Given the description of an element on the screen output the (x, y) to click on. 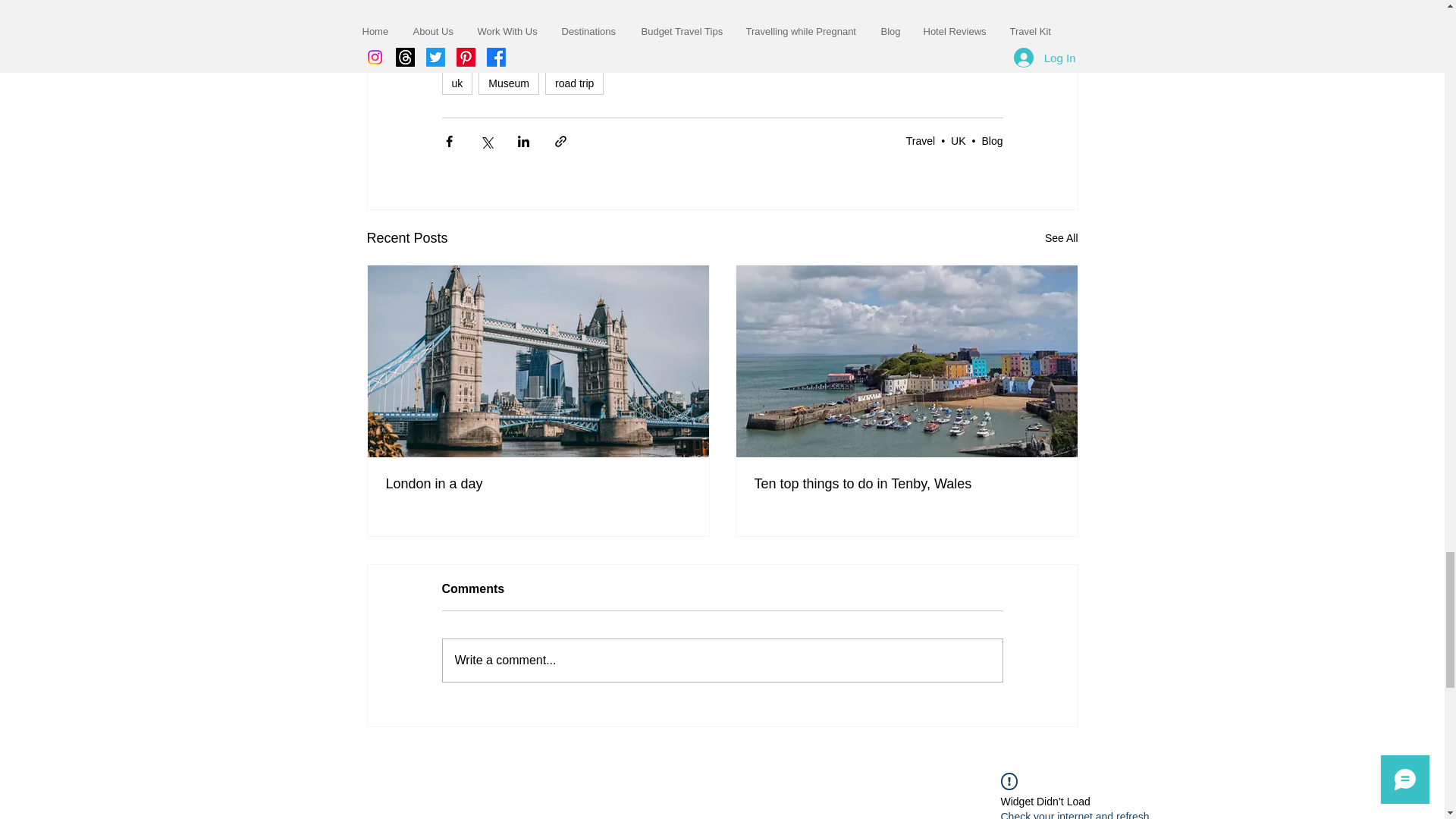
Pin to Pinterest (473, 757)
